Given the description of an element on the screen output the (x, y) to click on. 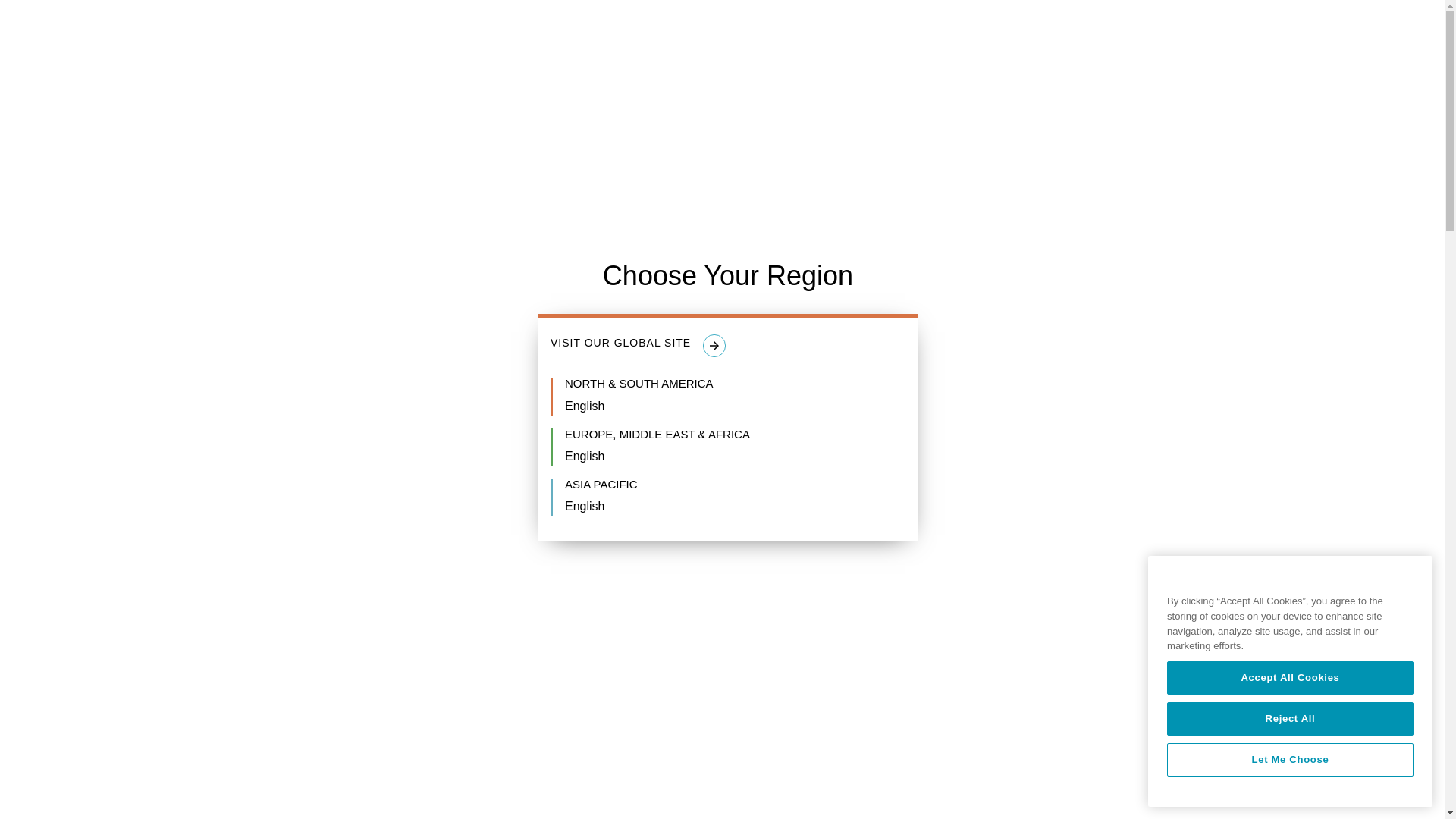
Solutions (535, 35)
Resources (624, 35)
Why Copperleaf (432, 35)
Company (714, 35)
